Given the description of an element on the screen output the (x, y) to click on. 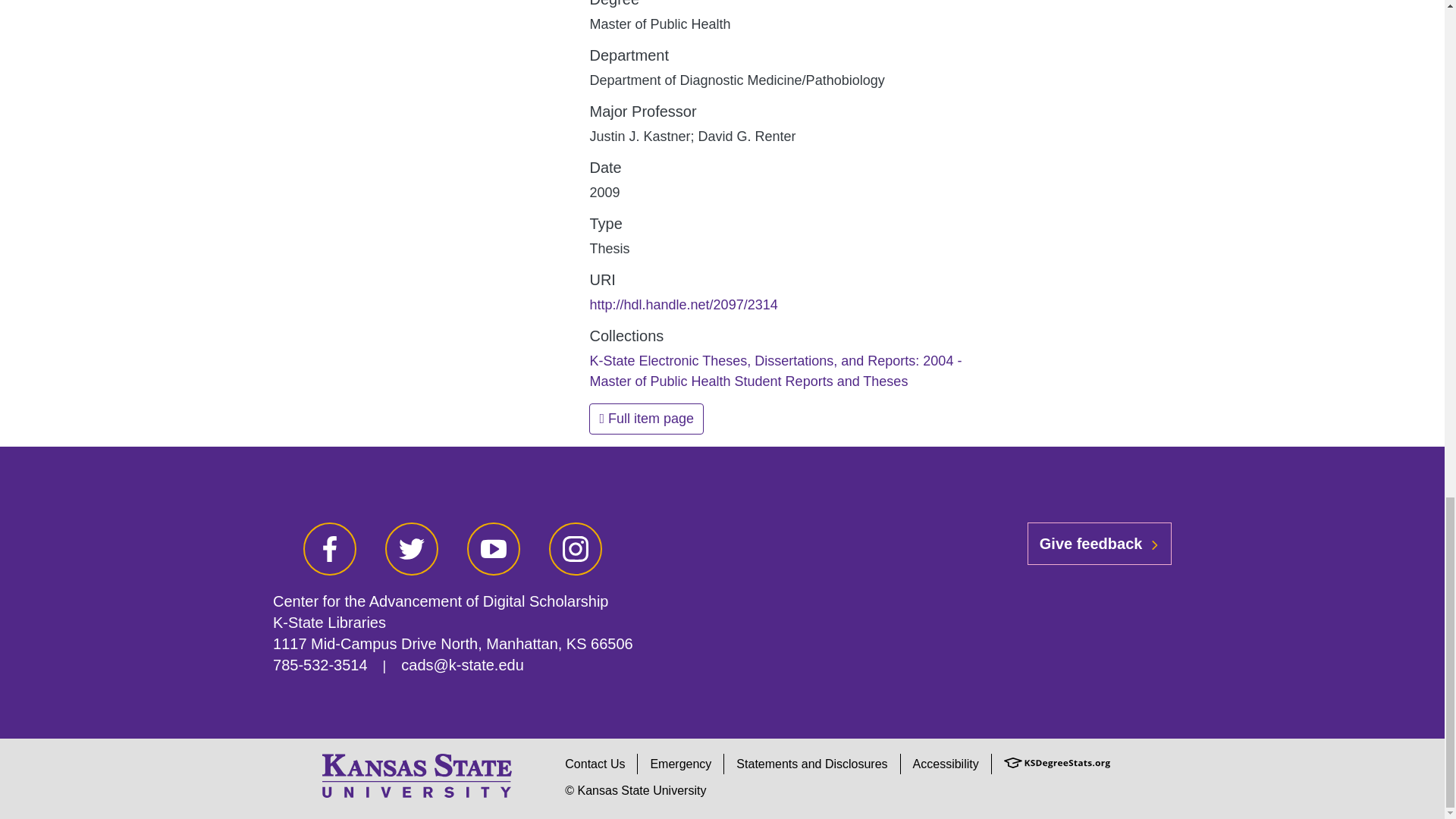
Master of Public Health Student Reports and Theses (748, 381)
Full item page (646, 418)
chevron (1154, 544)
